Given the description of an element on the screen output the (x, y) to click on. 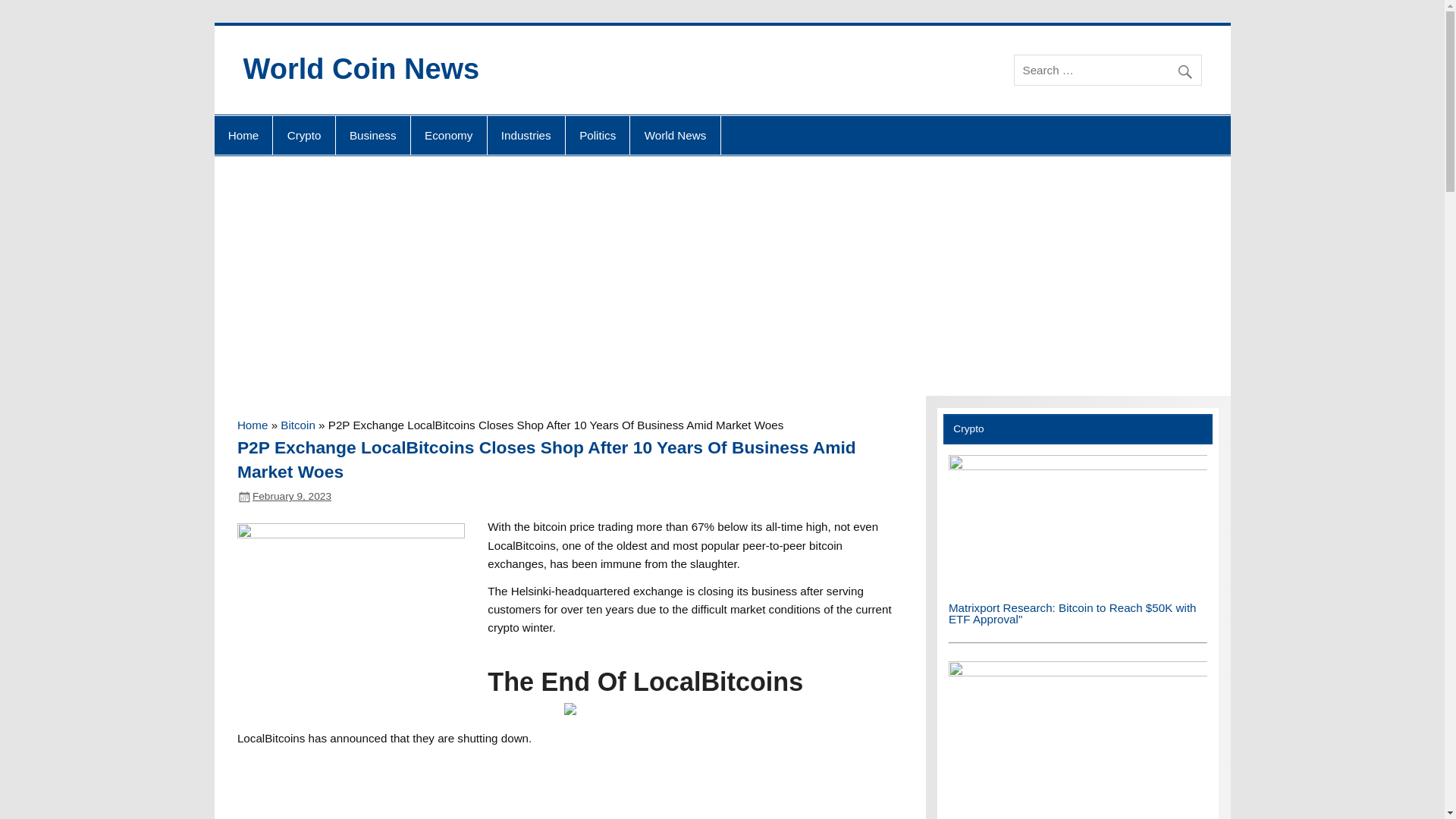
Home (252, 424)
Bitcoin (298, 424)
Business (373, 135)
Economy (448, 135)
9:27 pm (291, 496)
World News (674, 135)
February 9, 2023 (291, 496)
Politics (598, 135)
Home (243, 135)
Industries (525, 135)
